Given the description of an element on the screen output the (x, y) to click on. 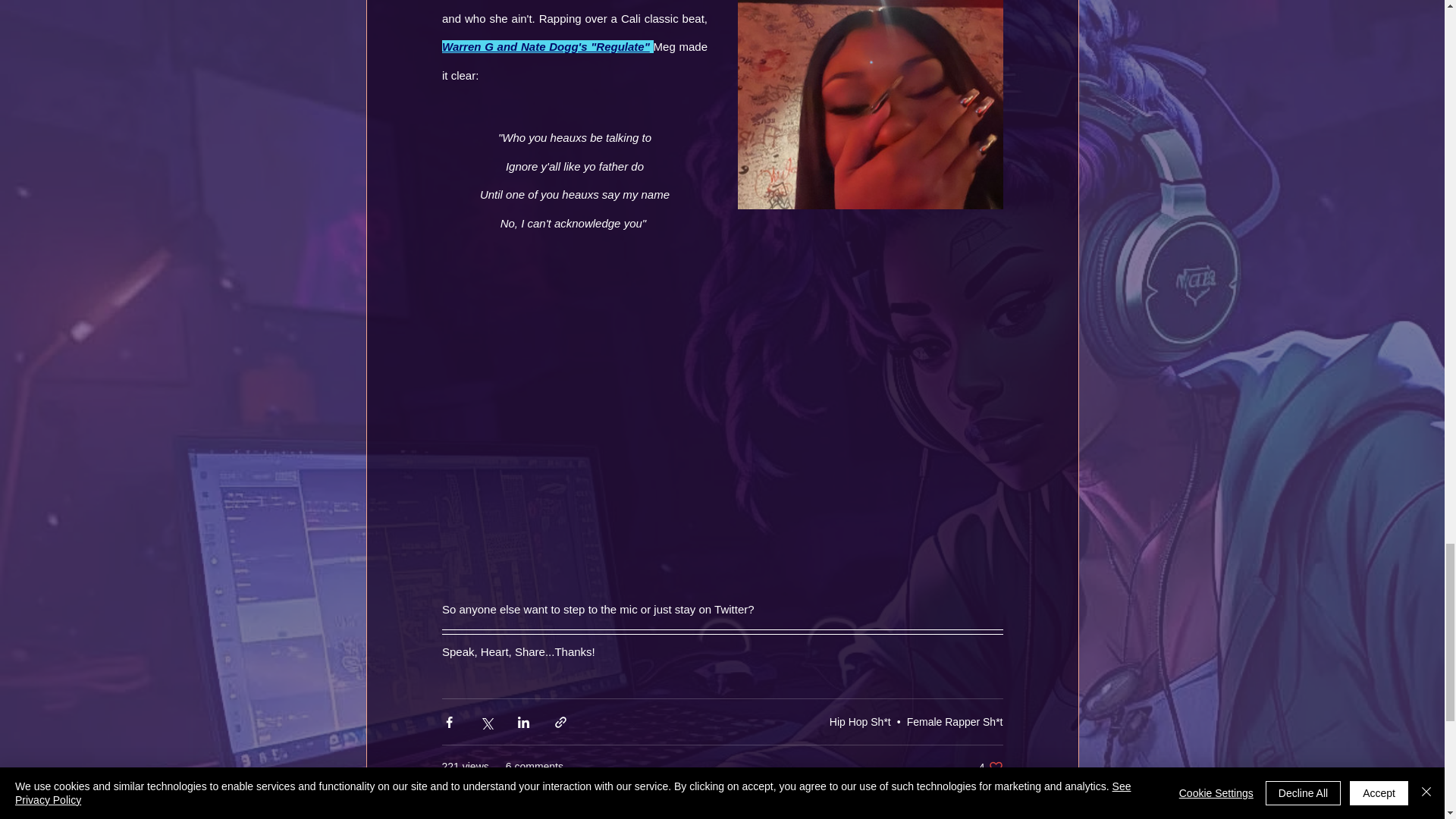
Warren G and Nate Dogg's "Regulate" (990, 766)
